Given the description of an element on the screen output the (x, y) to click on. 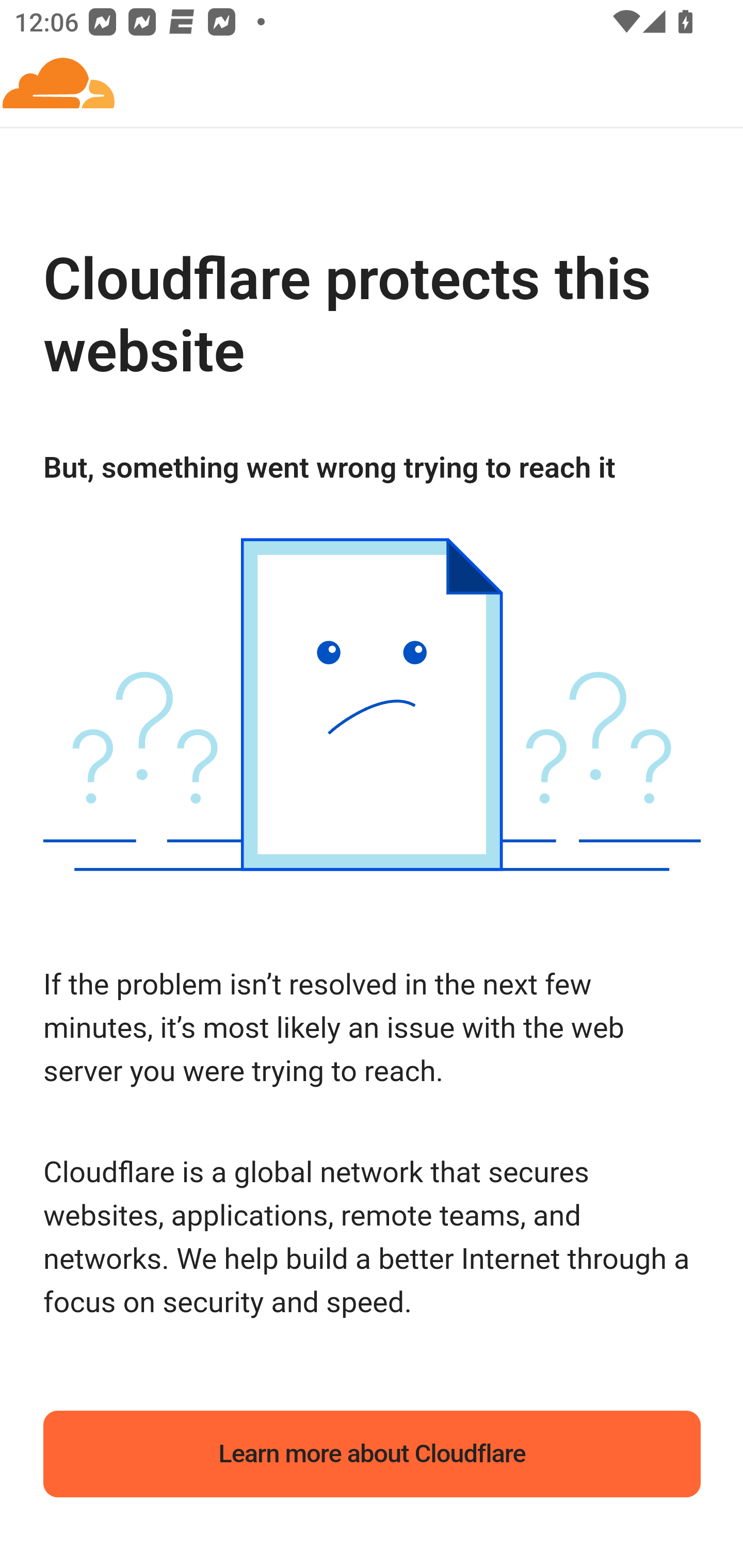
www.cloudflare (59, 84)
Learn more about Cloudflare (372, 1454)
